Given the description of an element on the screen output the (x, y) to click on. 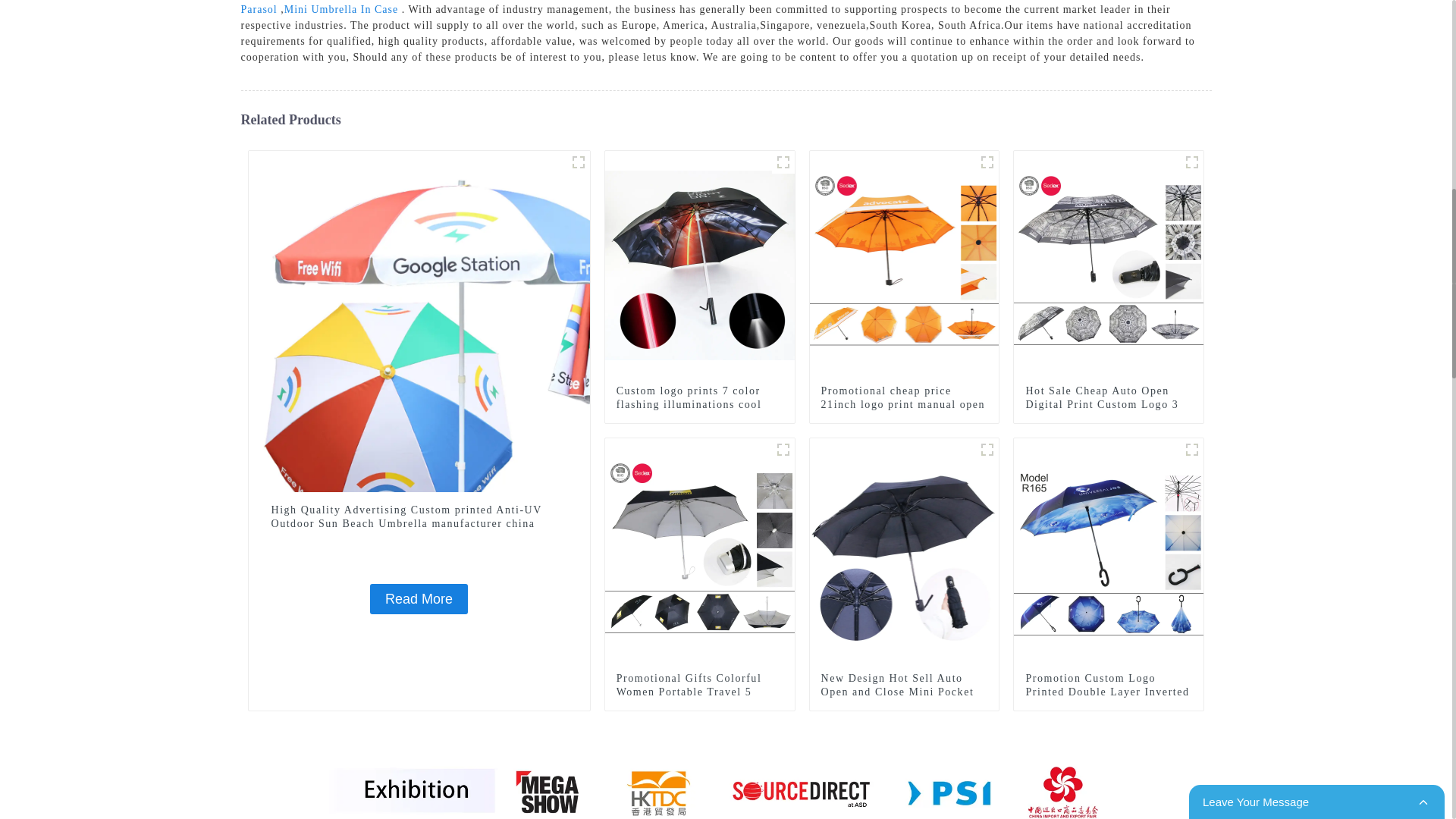
Commercial Parasol (706, 7)
B711.. (578, 161)
S815 (782, 161)
F307 S (986, 161)
Commercial Parasol (706, 7)
Read More (418, 598)
Mini Umbrella In Case (340, 9)
